Given the description of an element on the screen output the (x, y) to click on. 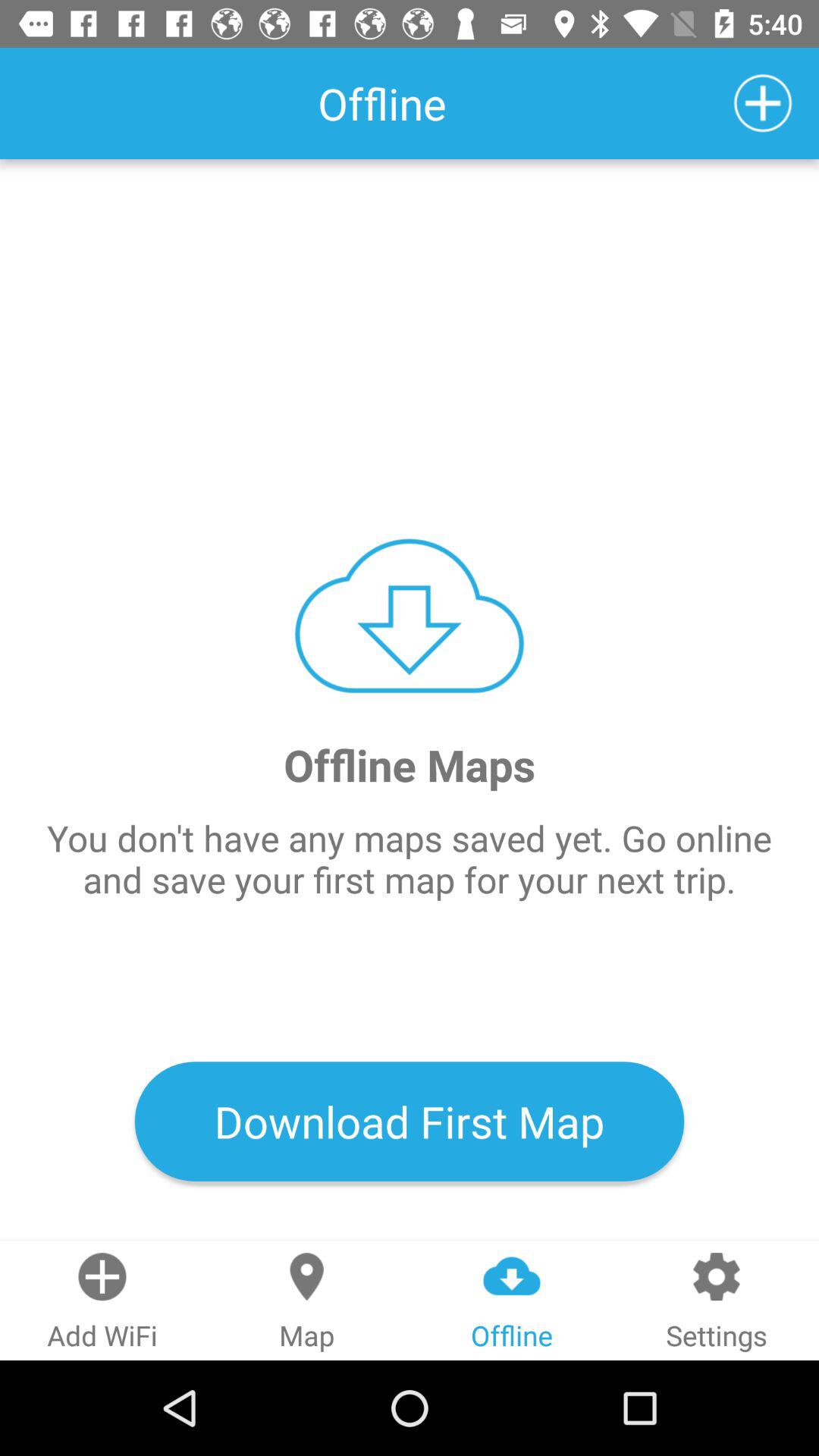
add map (762, 103)
